Given the description of an element on the screen output the (x, y) to click on. 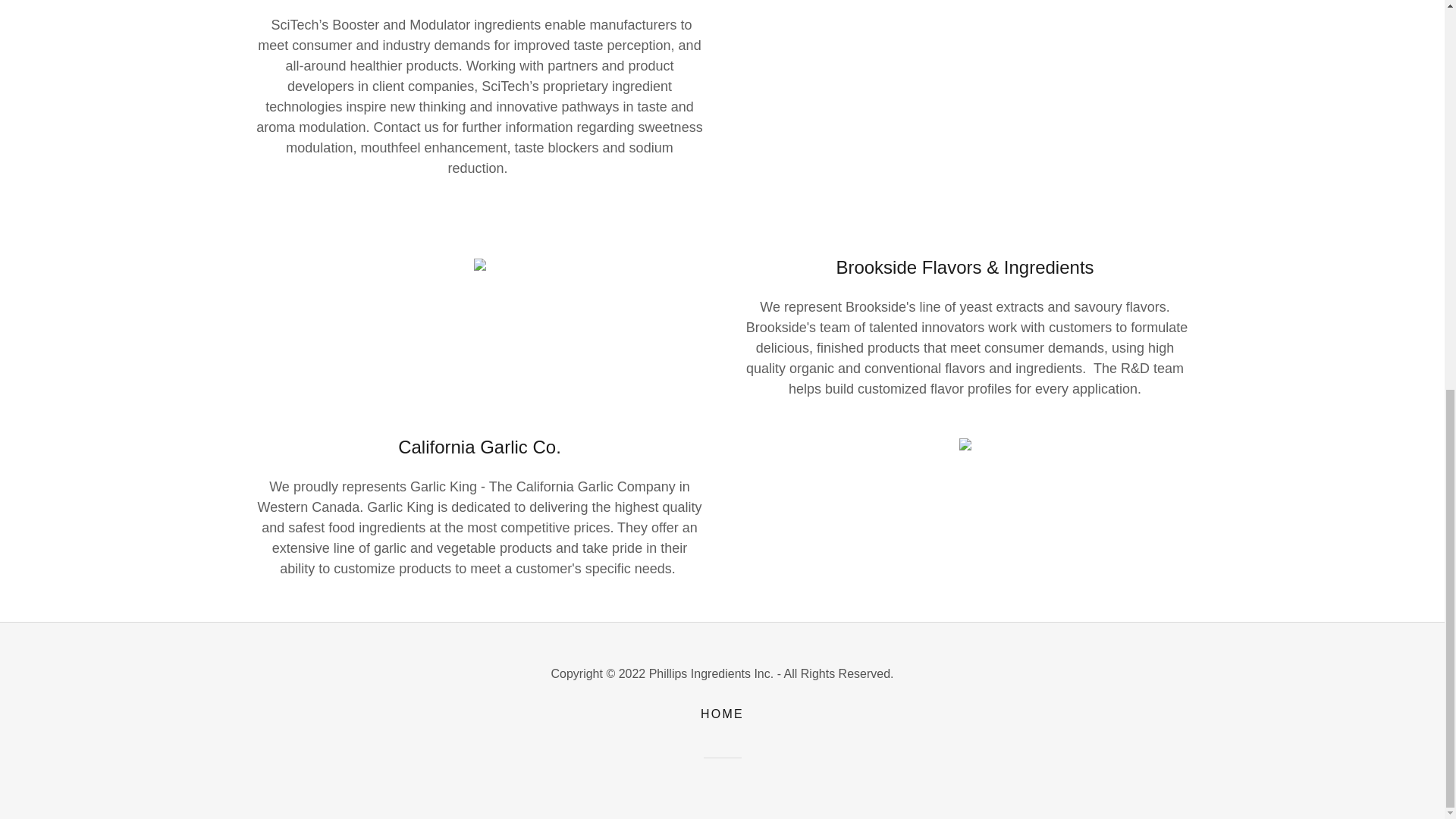
HOME (721, 714)
